Given the description of an element on the screen output the (x, y) to click on. 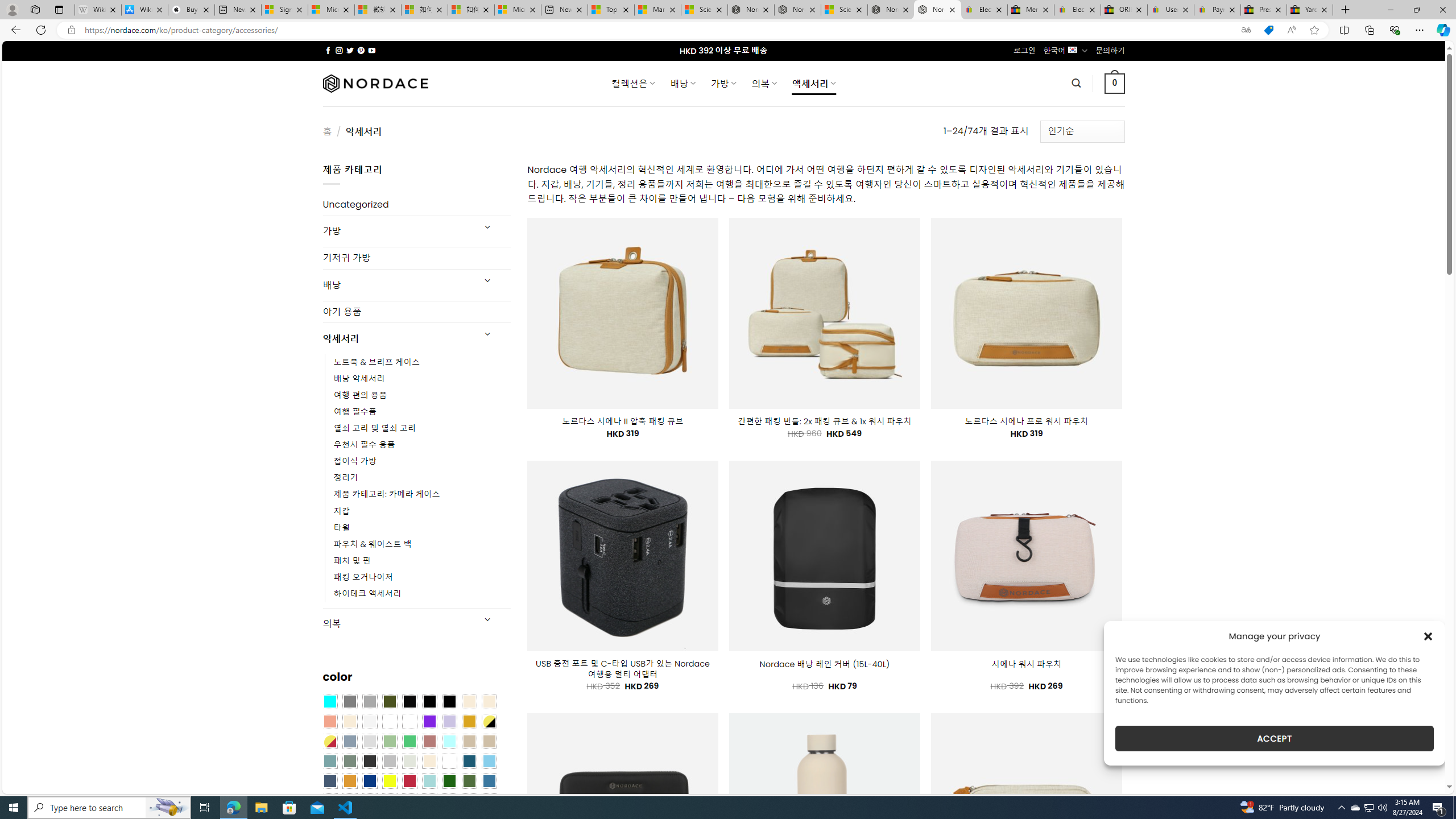
Nordace - Summer Adventures 2024 (890, 9)
Purple (429, 721)
Coral (329, 721)
Yard, Garden & Outdoor Living (1309, 9)
